Given the description of an element on the screen output the (x, y) to click on. 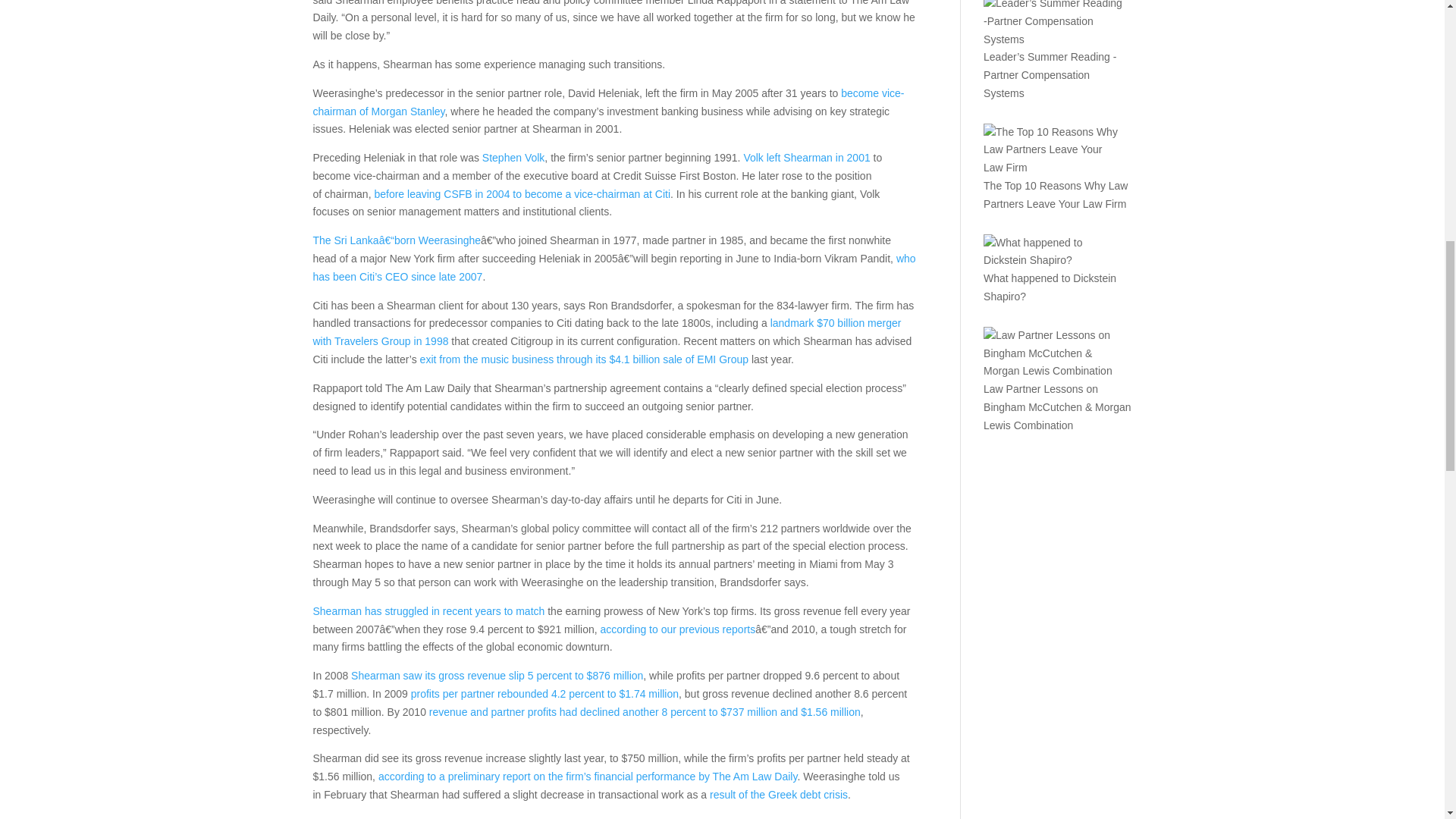
according to our previous reports (677, 629)
become vice-chairman of Morgan Stanley (608, 101)
Stephen Volk (512, 157)
Shearman has struggled in recent years to match (428, 611)
Volk left Shearman in 2001 (805, 157)
